Given the description of an element on the screen output the (x, y) to click on. 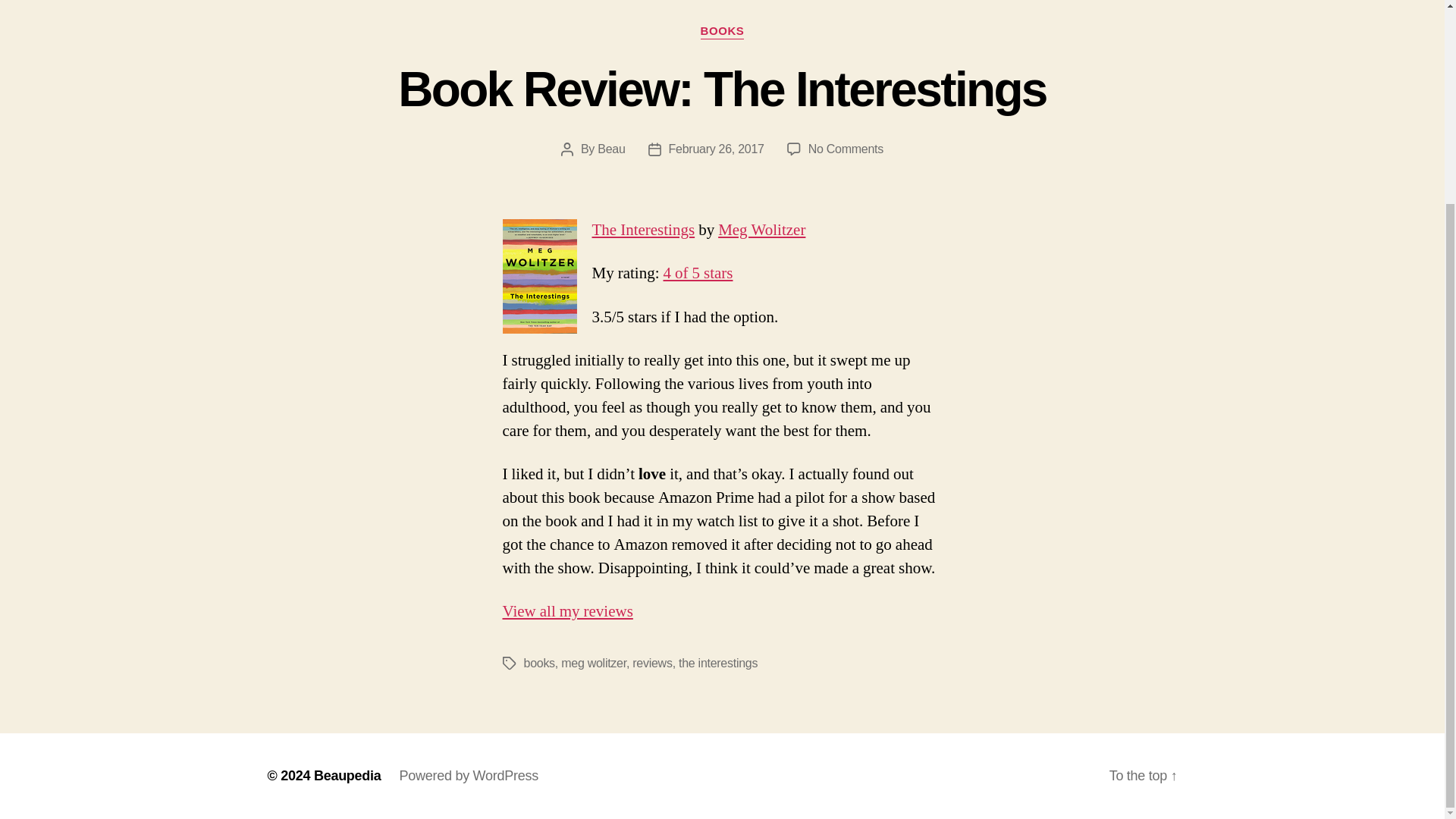
Powered by WordPress (468, 775)
Meg Wolitzer (845, 148)
the interestings (761, 230)
books (717, 662)
reviews (538, 662)
February 26, 2017 (651, 662)
4 of 5 stars (716, 148)
BOOKS (697, 272)
meg wolitzer (722, 31)
View all my reviews (593, 662)
Book Review: The Interestings (566, 611)
Beaupedia (721, 89)
The Interestings (347, 775)
Beau (642, 230)
